Given the description of an element on the screen output the (x, y) to click on. 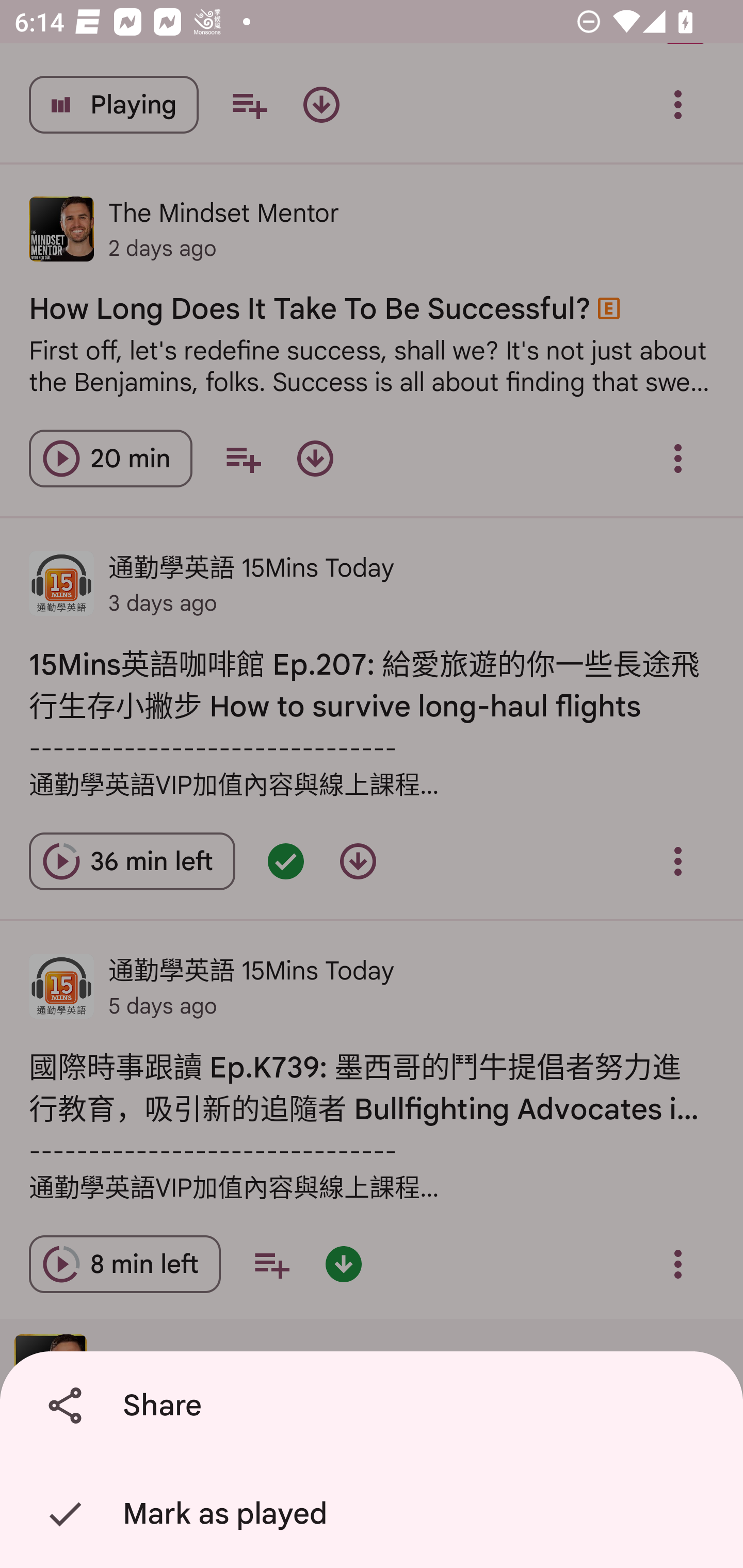
Share (375, 1405)
Mark as played (375, 1513)
